Given the description of an element on the screen output the (x, y) to click on. 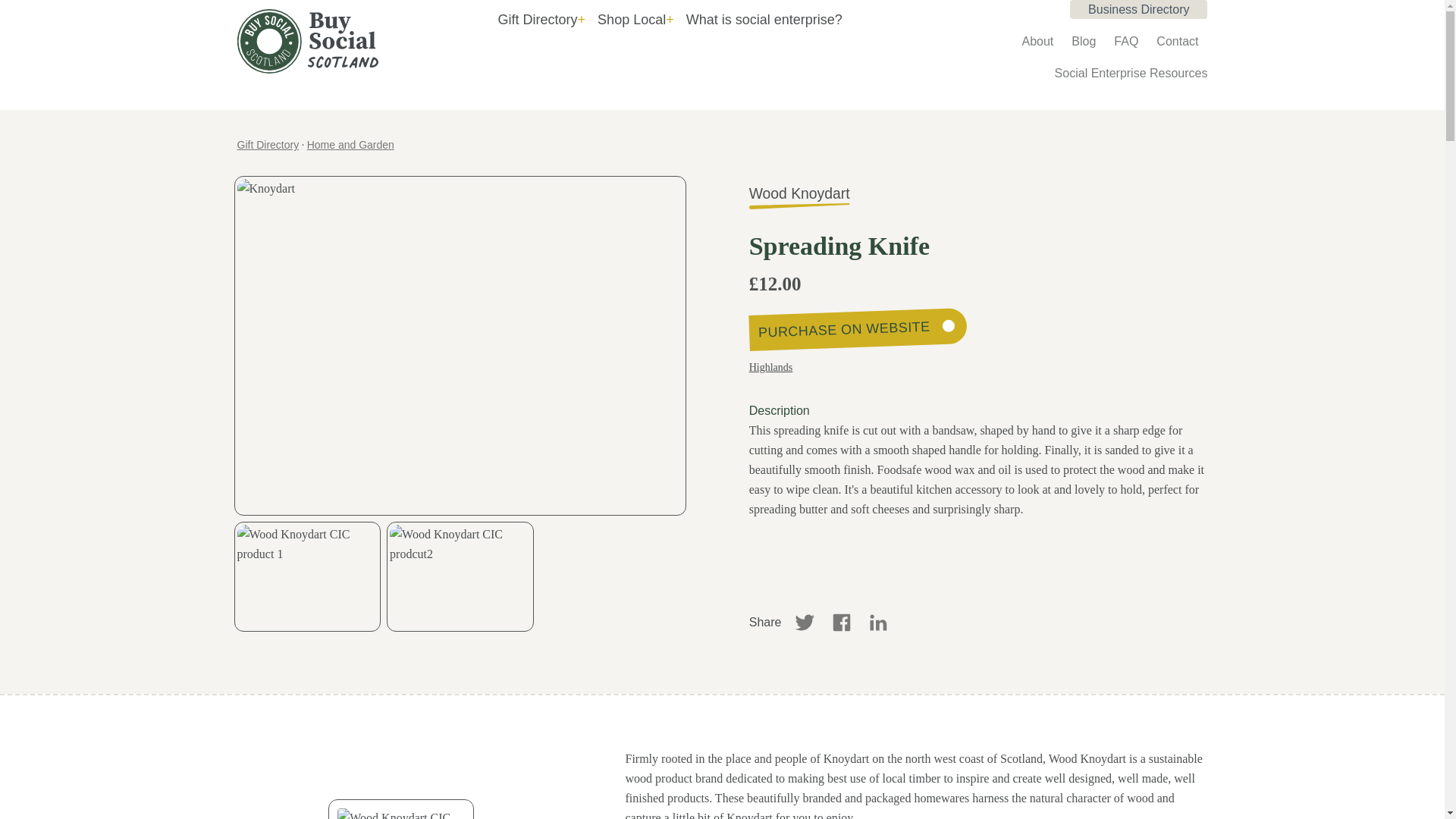
Social Enterprise Resources (1131, 72)
Facebook (842, 622)
Linkedin (877, 622)
Gift Directory (541, 20)
Twitter (805, 622)
FAQ (1125, 41)
Business Directory (1138, 9)
About (1037, 41)
Gift Directory (266, 144)
Contact (1177, 41)
